Given the description of an element on the screen output the (x, y) to click on. 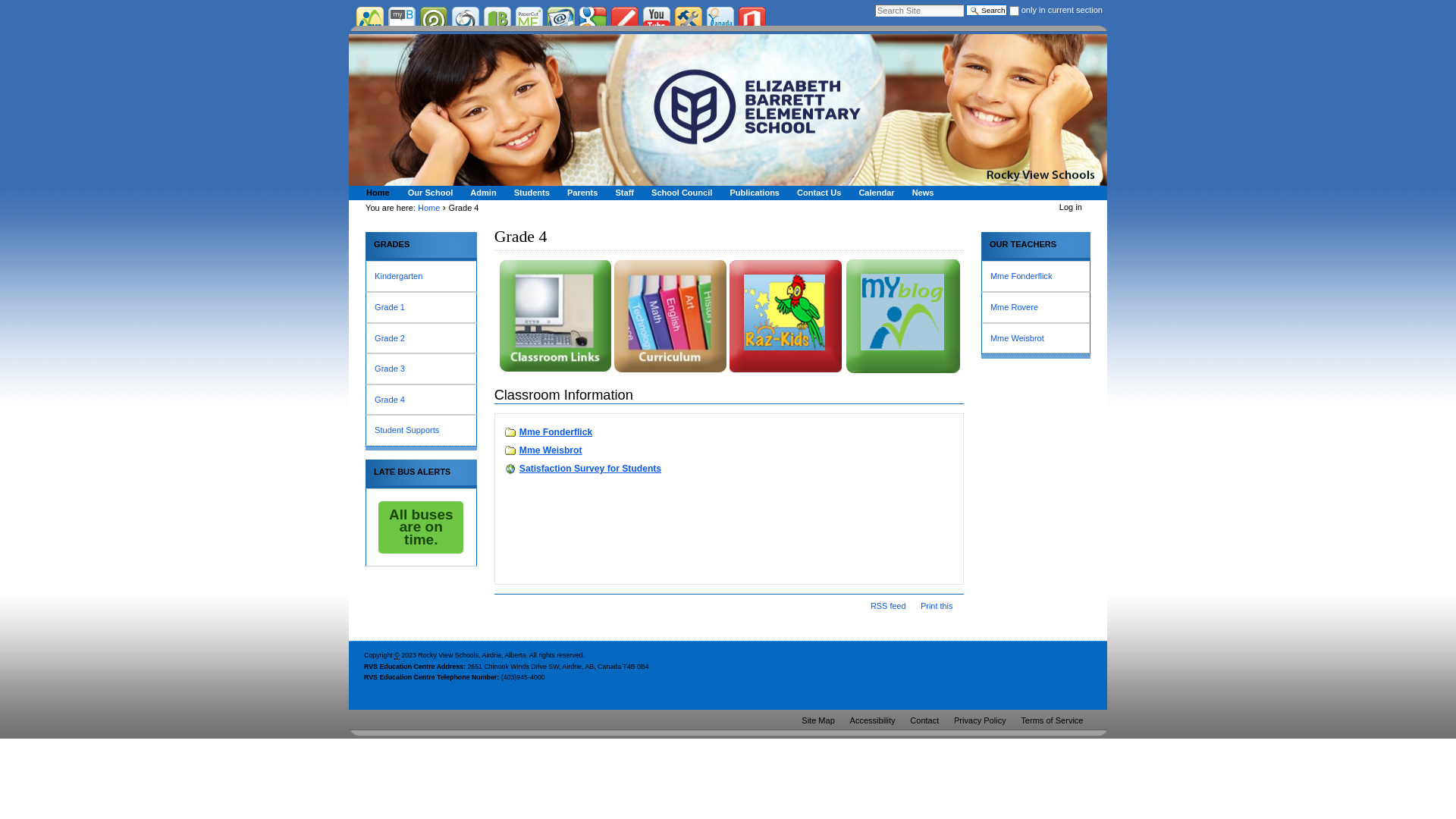
Contact Element type: text (924, 720)
Google Element type: hover (592, 19)
RSS feed Element type: text (888, 605)
Kindergarten Element type: text (420, 275)
TP-curriculum Element type: hover (670, 316)
Office 365 Element type: hover (751, 19)
Mme Fonderflick Element type: text (548, 432)
Rocky View Corporate Site Element type: hover (369, 19)
Search Site Element type: hover (919, 10)
Mme Rovere Element type: text (1035, 307)
Contact Us Element type: text (816, 192)
School Council Element type: text (679, 192)
Bibliovation Element type: hover (497, 19)
Log in Element type: text (1070, 206)
Admin Element type: text (480, 192)
Grade 2 Element type: text (420, 338)
Our School Element type: text (427, 192)
Grade 3 Element type: text (420, 368)
Home Element type: text (428, 207)
Student Blogs Element type: hover (624, 19)
Home Element type: text (375, 192)
Students Element type: text (529, 192)
Donations Element type: hover (720, 19)
Print this Element type: text (936, 605)
Power School Element type: hover (433, 19)
Tech Support Element type: hover (688, 19)
YouTube Element type: hover (656, 19)
Parents Element type: text (580, 192)
Search Element type: text (986, 9)
Grade 1 Element type: text (420, 307)
MyBlog Element type: hover (902, 315)
Terms of Service Element type: text (1052, 720)
Mme Fonderflick Element type: text (1035, 275)
Grade 4 Element type: text (420, 399)
Satisfaction Survey for Students Element type: text (582, 468)
Gr.4 Curriculum Element type: hover (670, 315)
Mme Weisbrot Element type: text (1035, 338)
RVS Gmail Element type: hover (560, 19)
PaperCut Element type: hover (528, 19)
TP-classroom links Element type: hover (555, 315)
RazKids Element type: hover (785, 315)
Calendar Element type: text (873, 192)
Accessibility Element type: text (871, 720)
My Blueprint Element type: hover (401, 19)
All buses are on time. Element type: text (420, 527)
School Cash Net Element type: hover (465, 19)
Student Supports Element type: text (420, 429)
Publications Element type: text (751, 192)
Site Map Element type: text (818, 720)
Mme Weisbrot Element type: text (543, 450)
Staff Element type: text (621, 192)
News Element type: text (920, 192)
Privacy Policy Element type: text (979, 720)
